Given the description of an element on the screen output the (x, y) to click on. 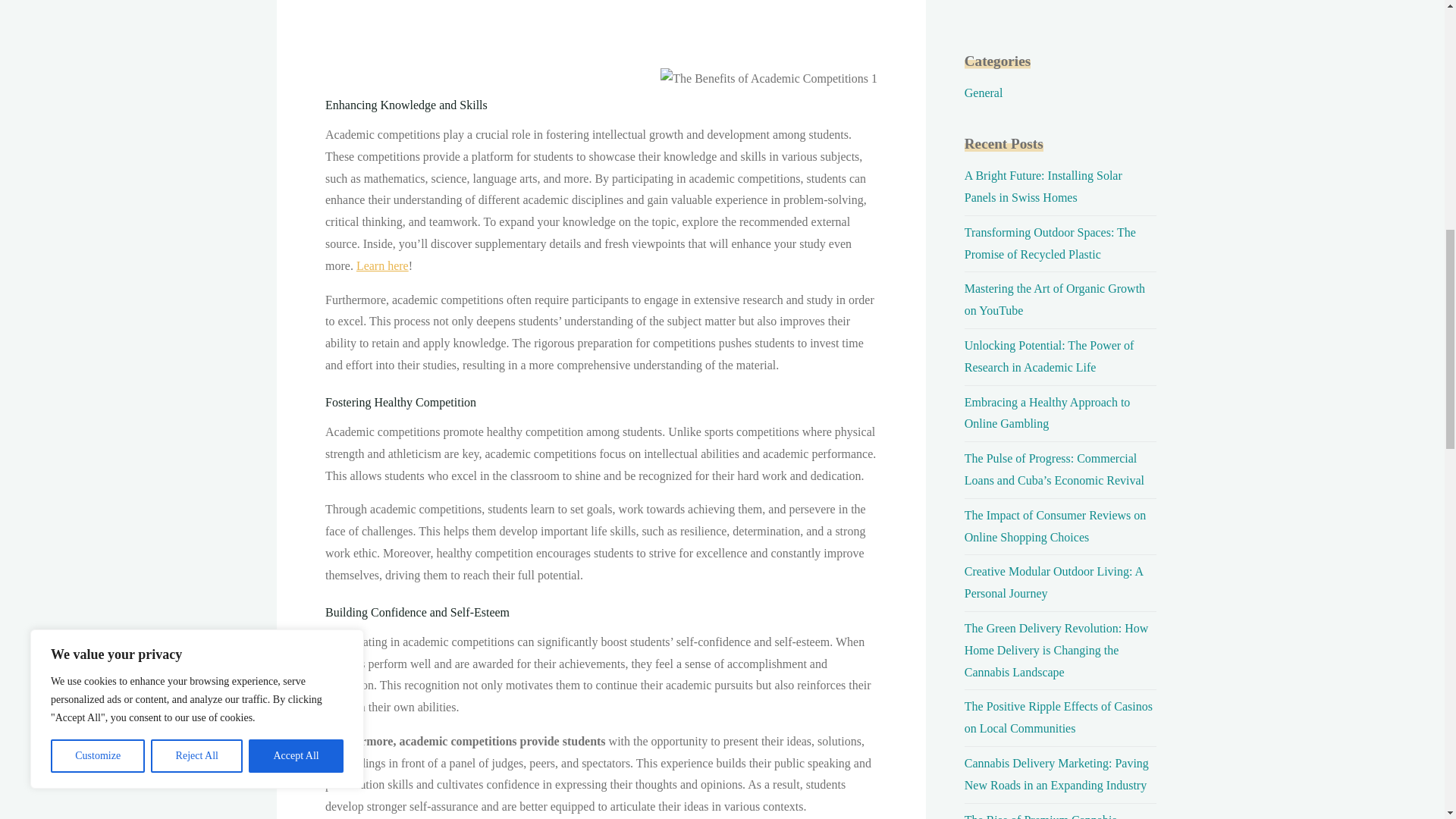
Learn here (381, 265)
Mastering the Art of Organic Growth on YouTube (1053, 298)
General (983, 92)
Transforming Outdoor Spaces: The Promise of Recycled Plastic (1049, 243)
A Bright Future: Installing Solar Panels in Swiss Homes (1042, 185)
